Given the description of an element on the screen output the (x, y) to click on. 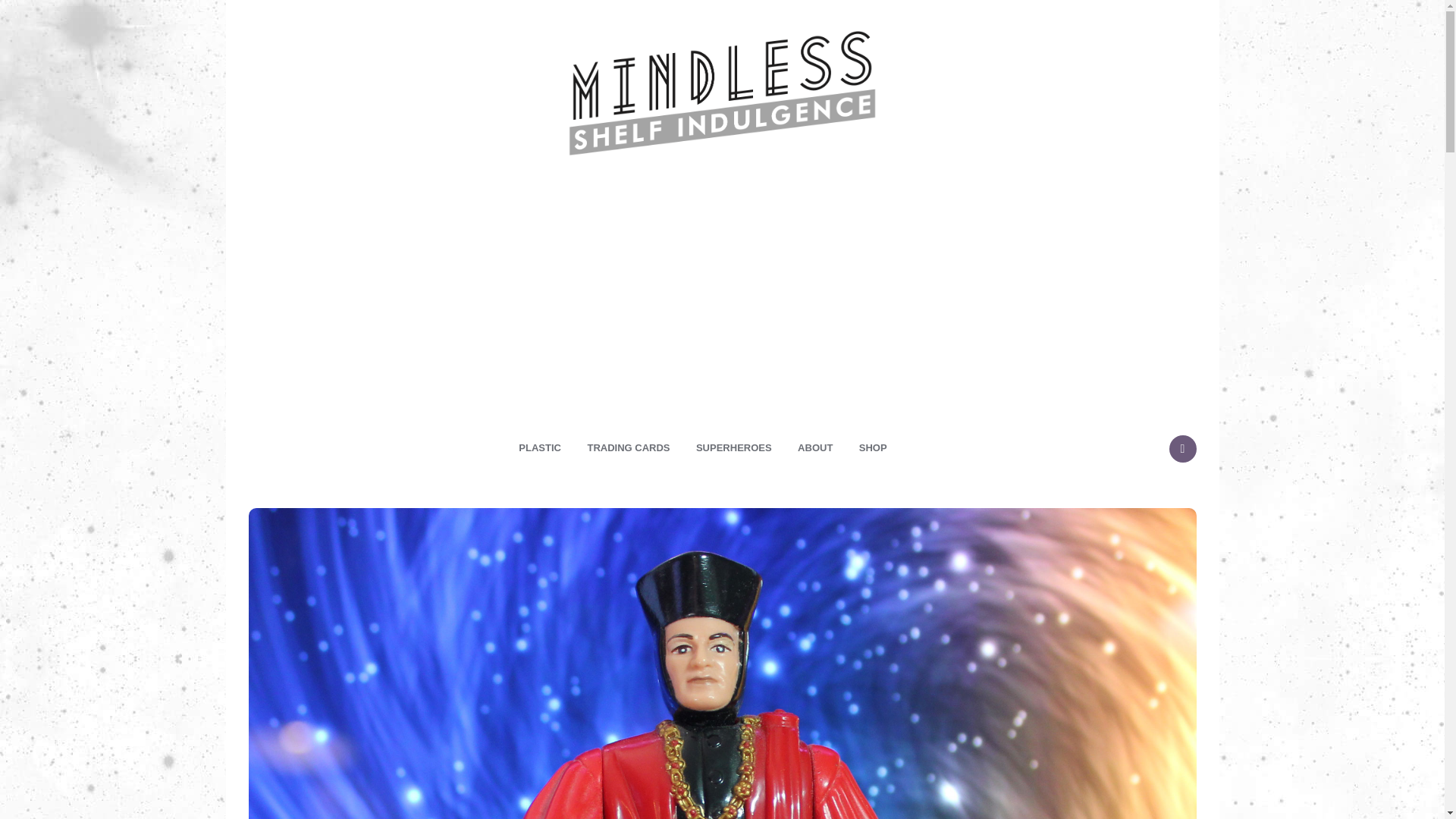
SHOP (872, 447)
PLASTIC (539, 447)
SUPERHEROES (733, 447)
TRADING CARDS (628, 447)
ABOUT (815, 447)
